Given the description of an element on the screen output the (x, y) to click on. 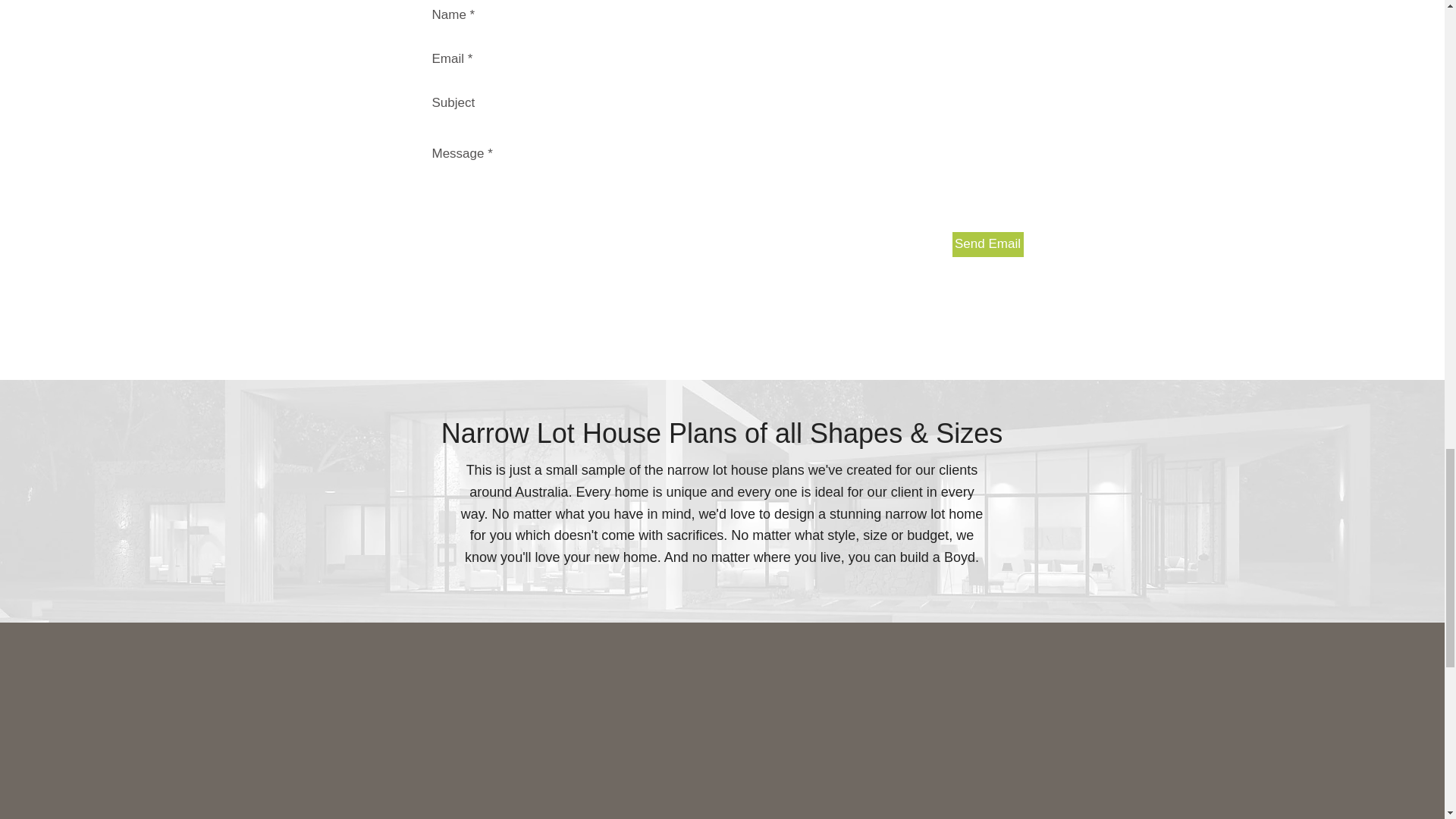
Send Email (987, 244)
